Given the description of an element on the screen output the (x, y) to click on. 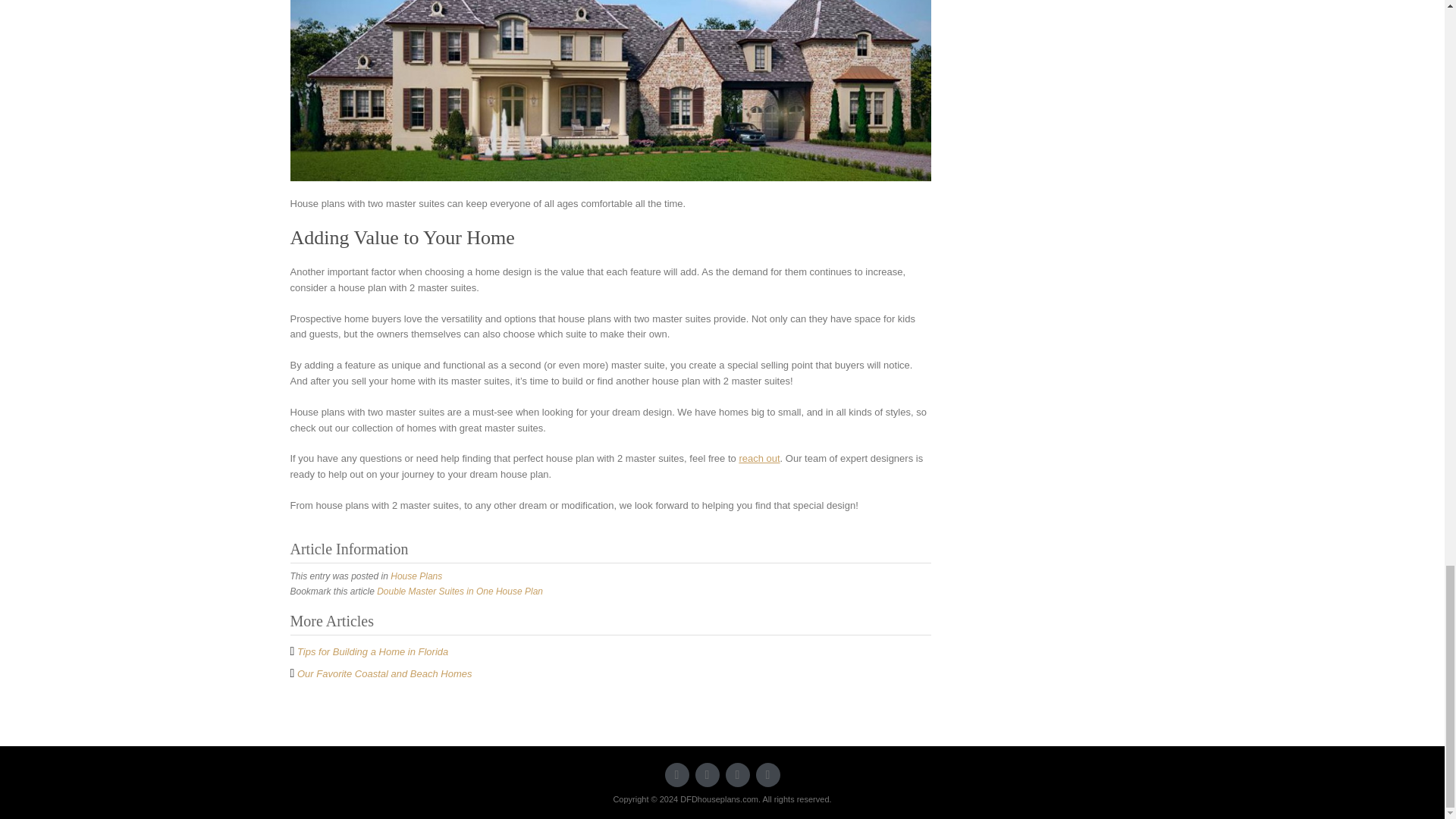
Our Favorite Coastal and Beach Homes (384, 673)
reach out (758, 458)
Double Master Suites in One House Plan (460, 591)
Pinterest (766, 774)
Twitter (675, 774)
Tips for Building a Home in Florida (372, 651)
House Plans (416, 575)
Facebook (706, 774)
